Given the description of an element on the screen output the (x, y) to click on. 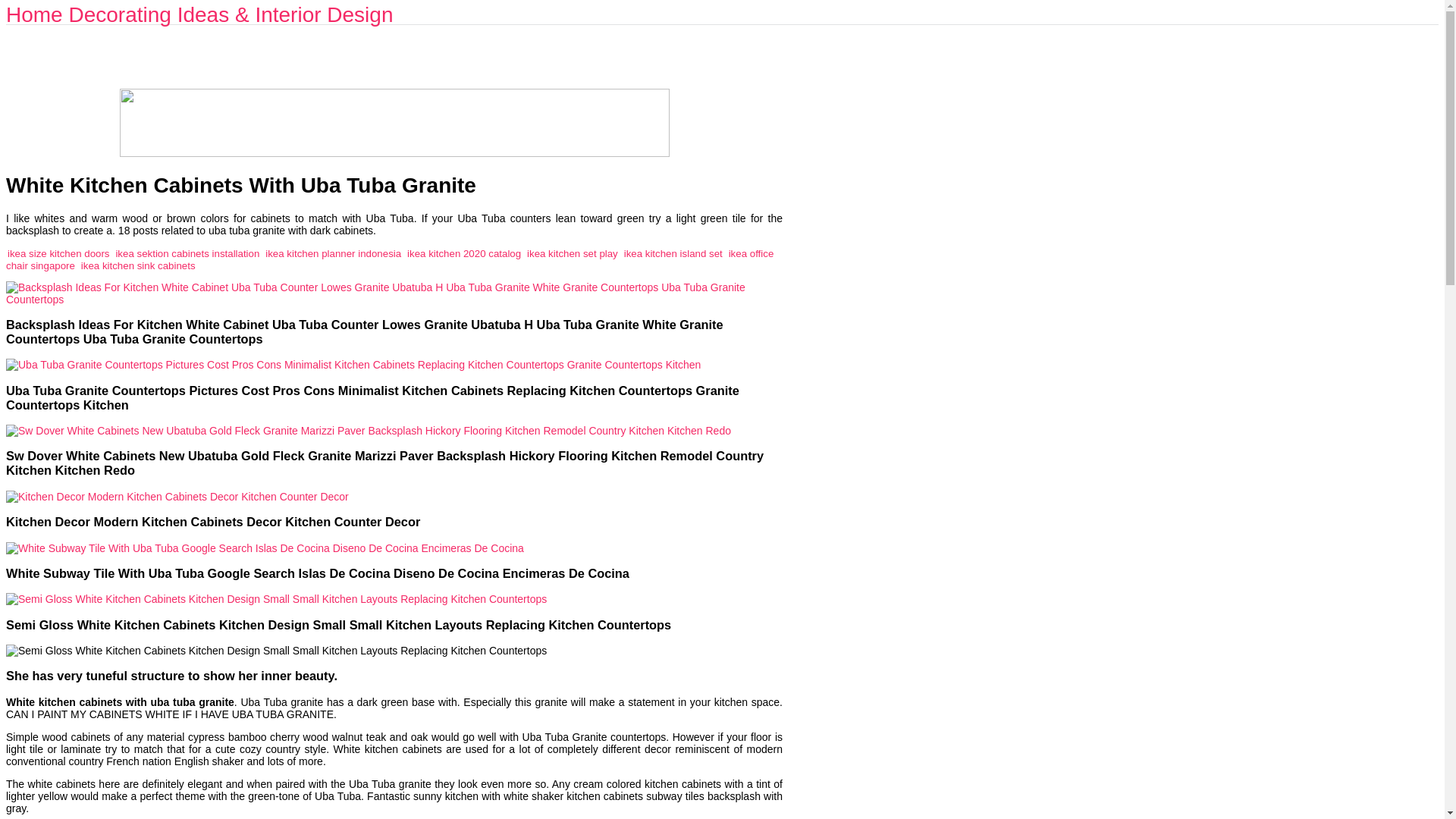
ikea kitchen set play (572, 252)
ikea kitchen 2020 catalog (464, 252)
ikea sektion cabinets installation (187, 252)
ikea kitchen island set (673, 252)
ikea office chair singapore (389, 259)
ikea kitchen planner indonesia (332, 252)
ikea kitchen sink cabinets (138, 265)
ikea size kitchen doors (58, 252)
